Given the description of an element on the screen output the (x, y) to click on. 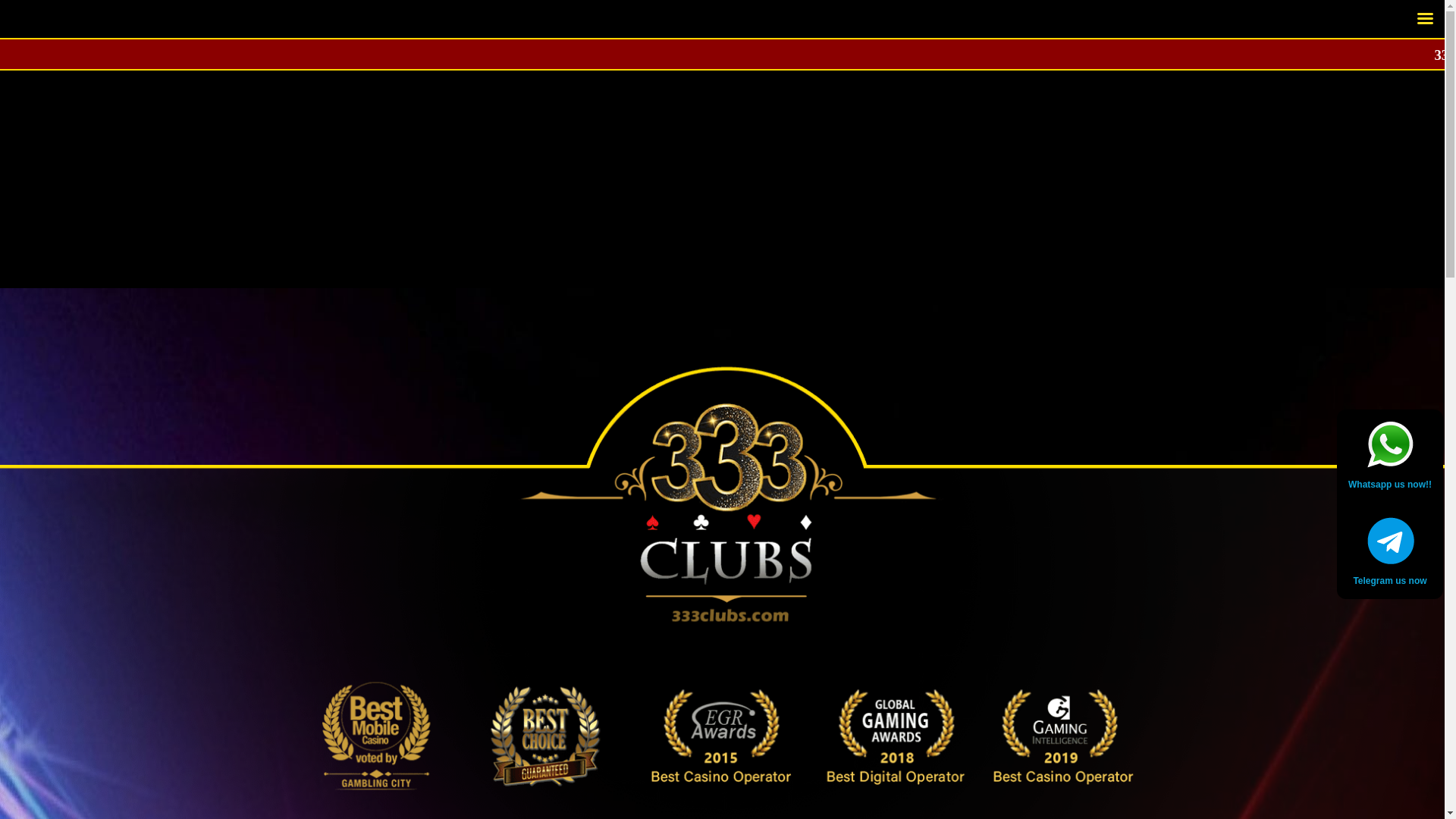
Telegram us now Element type: text (1389, 582)
Whatsapp us now!! Element type: text (1389, 486)
